Given the description of an element on the screen output the (x, y) to click on. 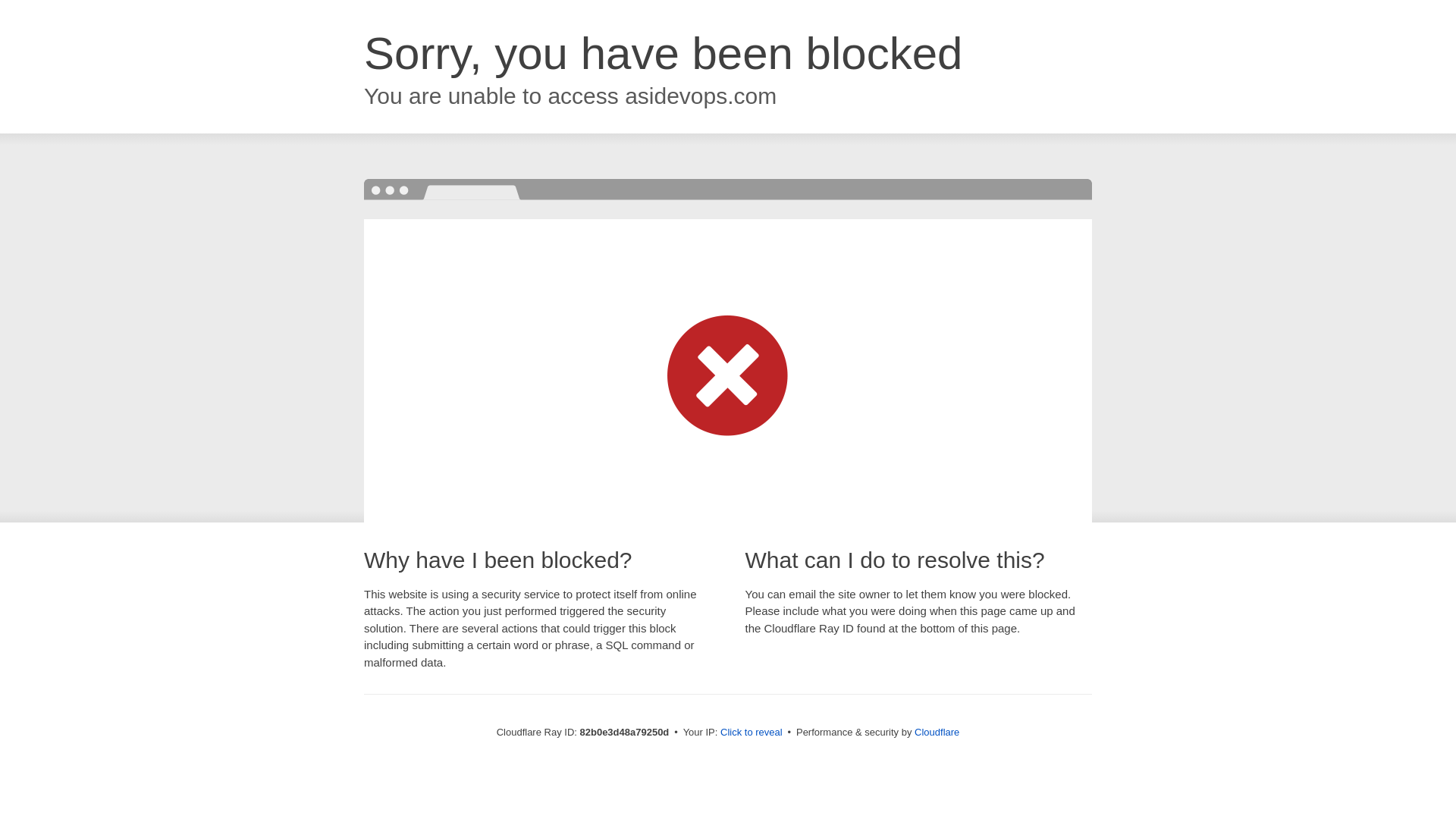
Cloudflare Element type: text (936, 731)
Click to reveal Element type: text (751, 732)
